Given the description of an element on the screen output the (x, y) to click on. 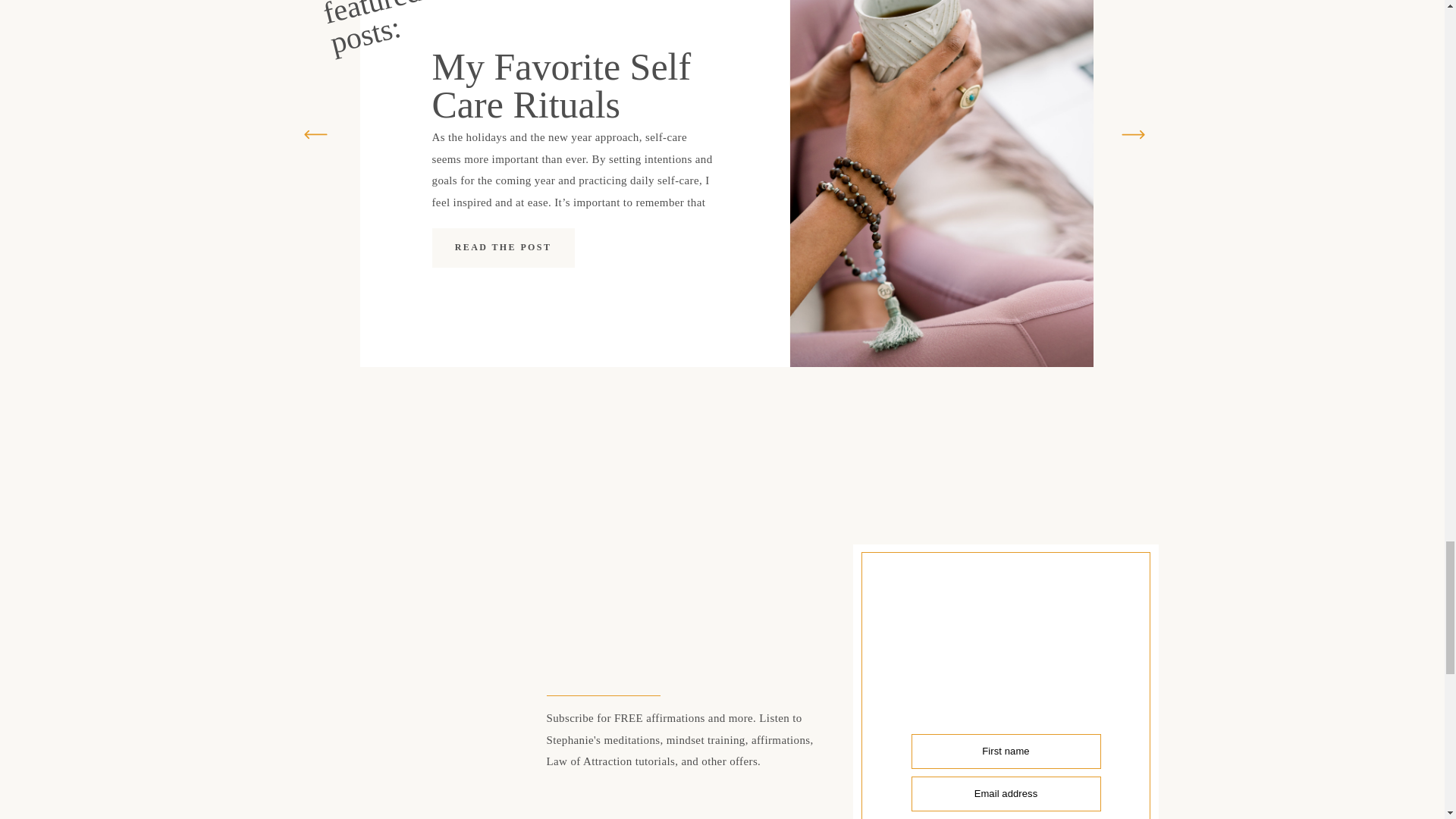
My Favorite Self Care Rituals (561, 85)
READ THE POST (502, 245)
My Favorite Self Care Rituals (502, 245)
My Favorite Self Care Rituals (503, 247)
